Given the description of an element on the screen output the (x, y) to click on. 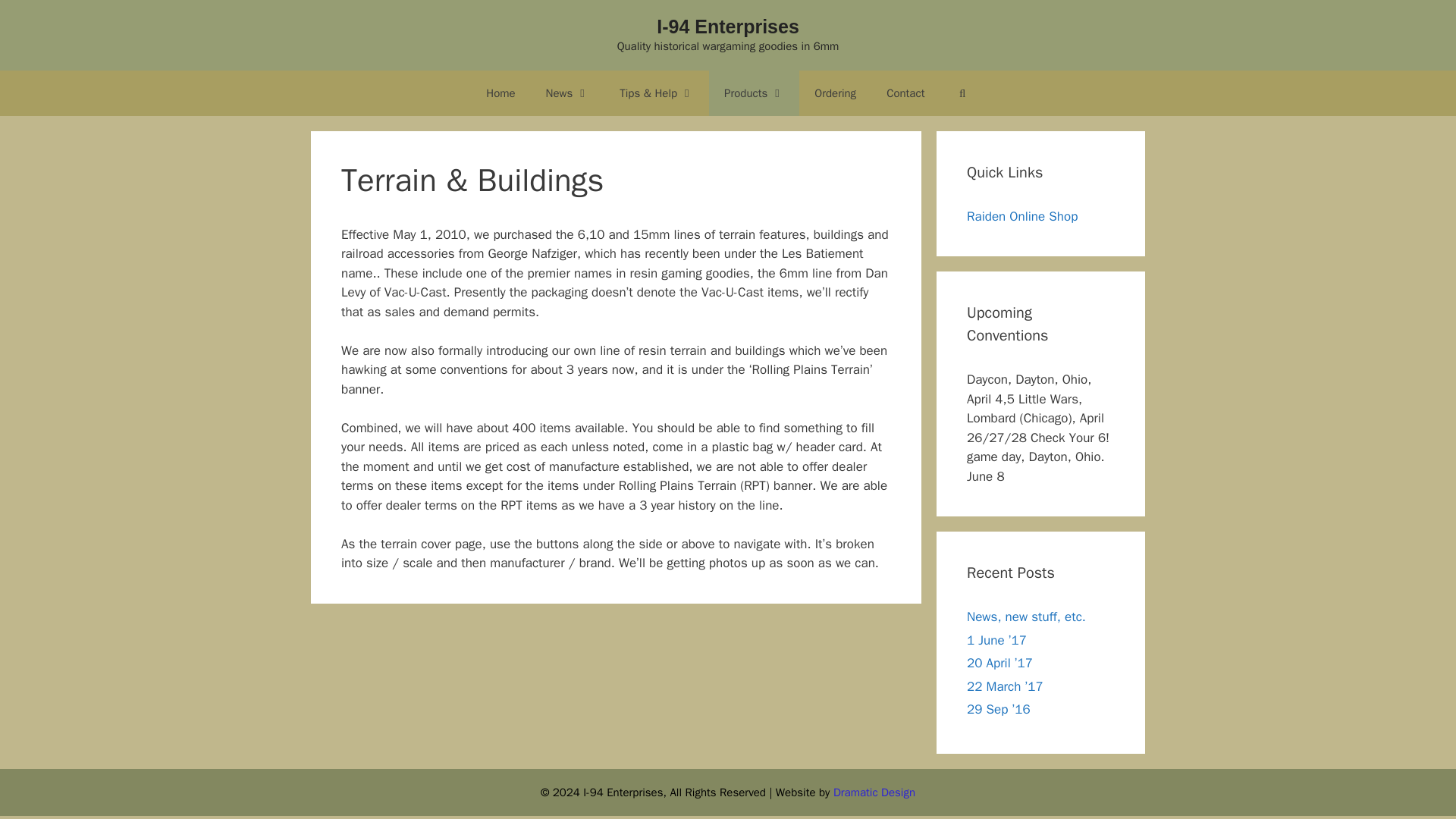
Products (754, 92)
I-94 Enterprises (727, 25)
News (568, 92)
Home (499, 92)
